Given the description of an element on the screen output the (x, y) to click on. 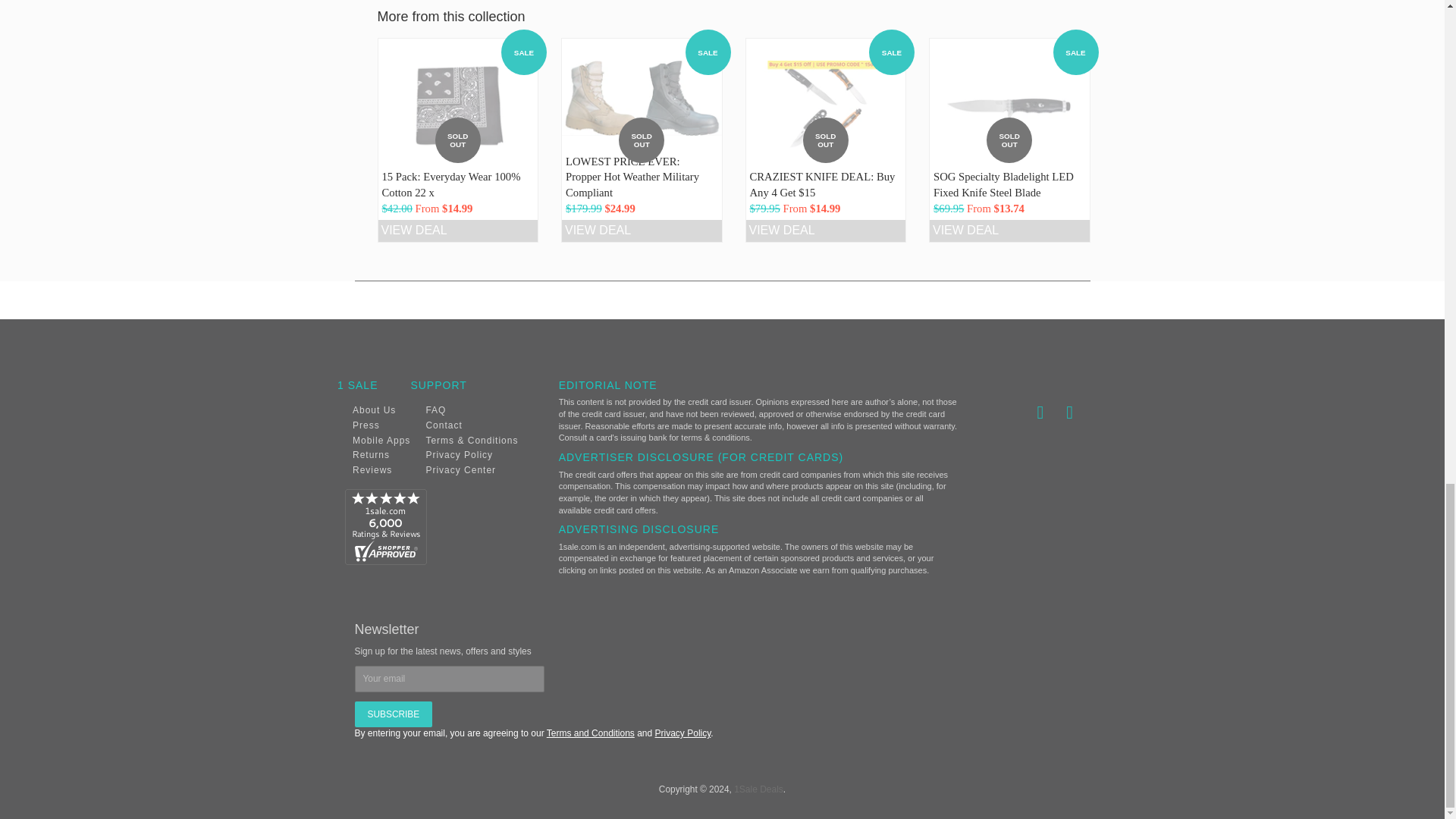
Subscribe (393, 714)
